Given the description of an element on the screen output the (x, y) to click on. 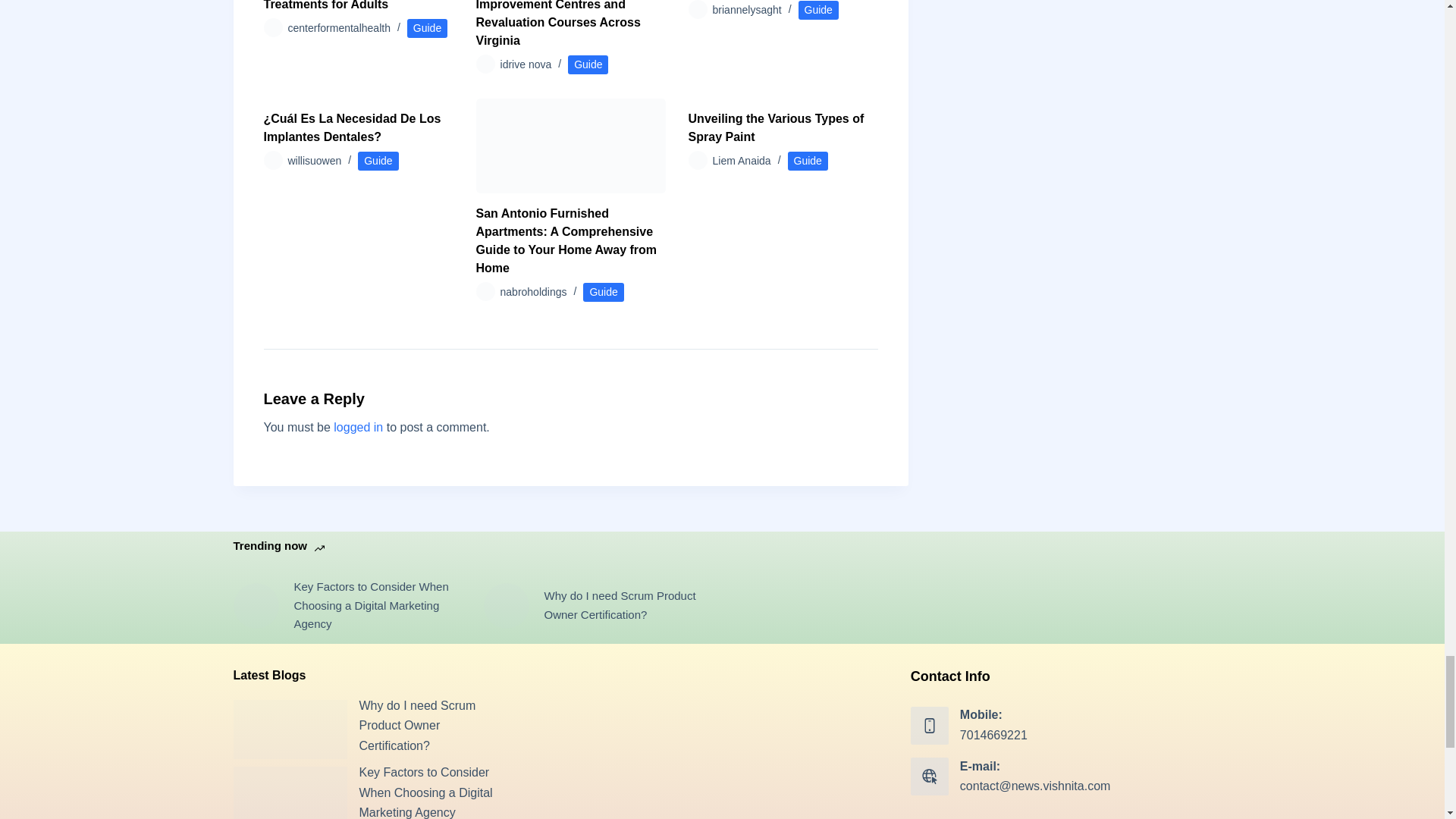
Posts by centerformentalhealth (339, 28)
Posts by briannelysaght (747, 9)
Posts by willisuowen (315, 160)
Posts by nabroholdings (533, 291)
Posts by idrive nova (525, 64)
Posts by Liem Anaida (742, 160)
Why do I need Scrum Product Owner Certification? 9 (289, 730)
